Given the description of an element on the screen output the (x, y) to click on. 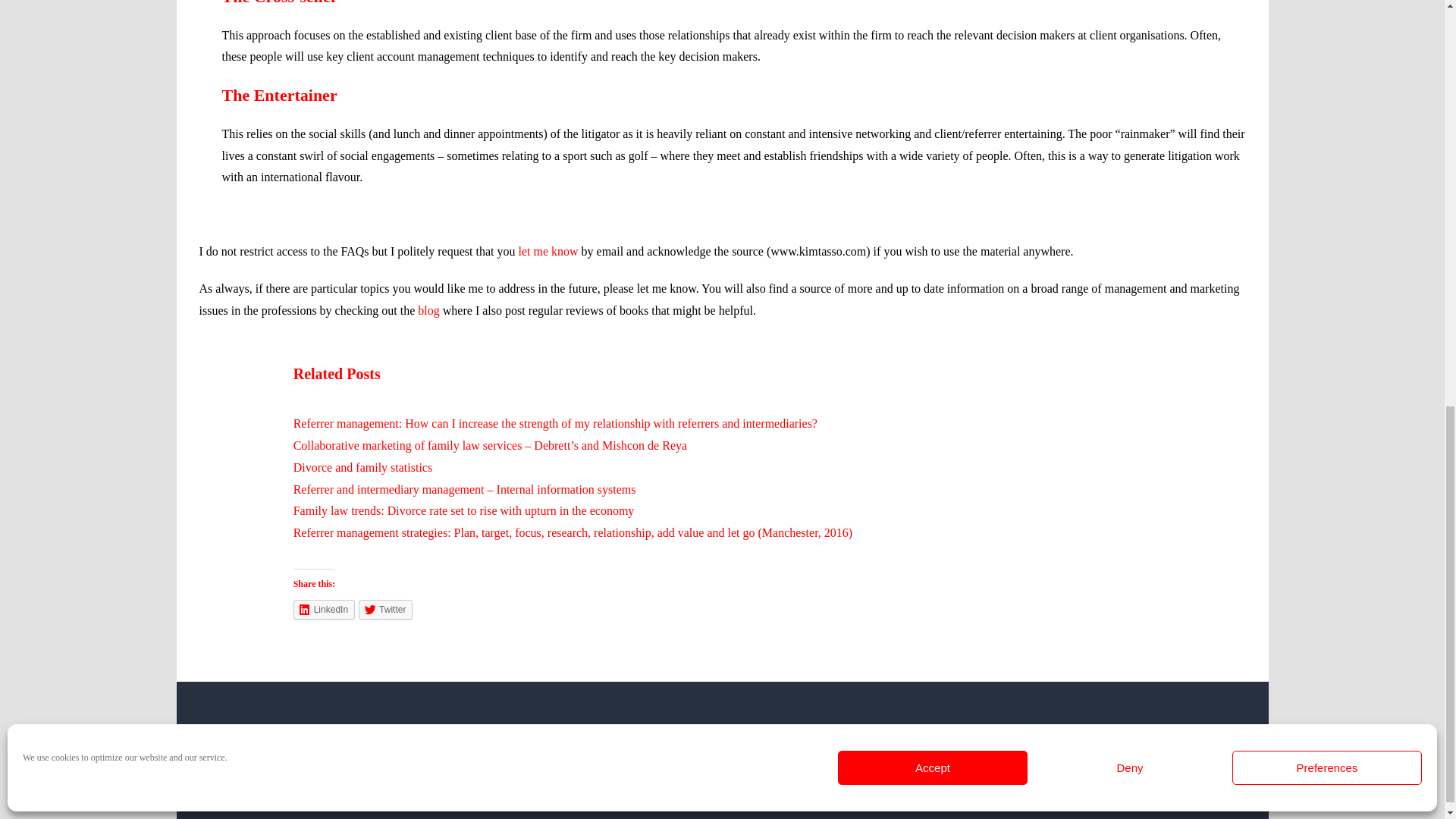
Click to share on LinkedIn (324, 609)
Click to share on Twitter (385, 609)
